Given the description of an element on the screen output the (x, y) to click on. 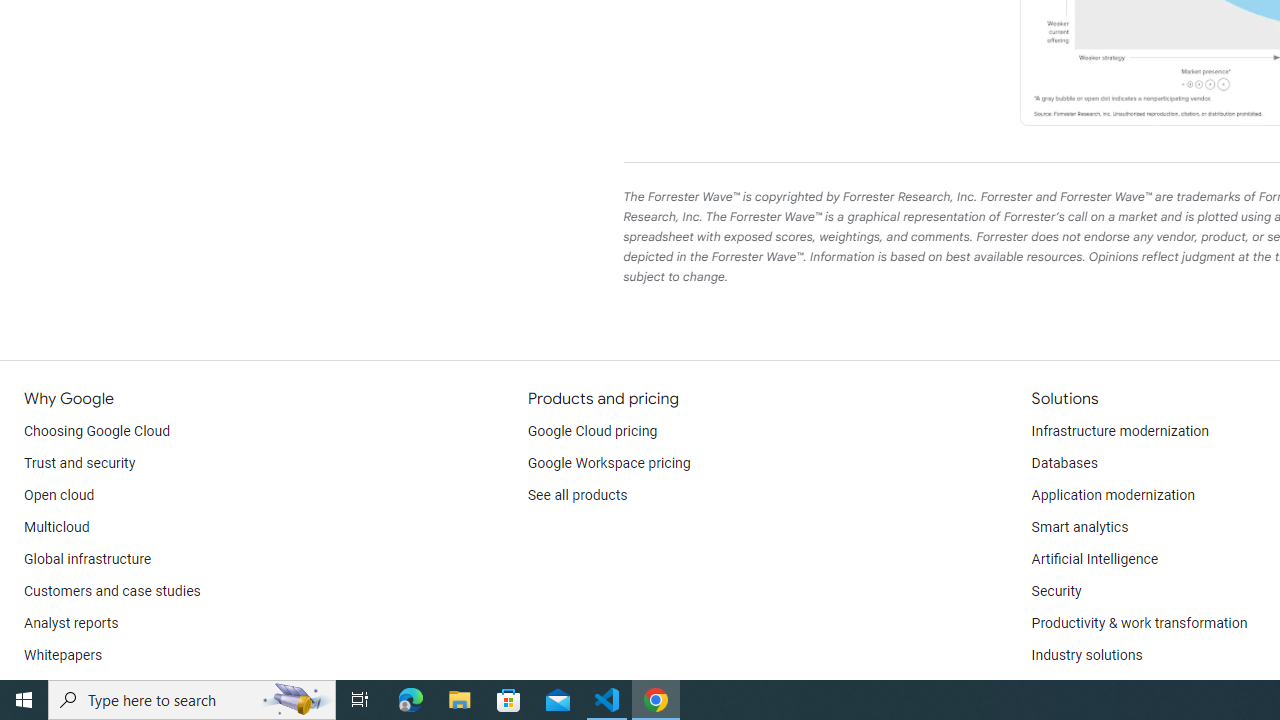
Industry solutions (1086, 655)
Customers and case studies (112, 591)
Analyst reports (71, 623)
Trust and security (79, 463)
Multicloud (56, 527)
See all products (577, 495)
Google Workspace pricing (609, 463)
Global infrastructure (88, 560)
Productivity & work transformation (1139, 623)
Security (1055, 591)
Artificial Intelligence (1094, 560)
Whitepapers (63, 655)
Application modernization (1112, 495)
Smart analytics (1079, 527)
Google Cloud pricing (592, 431)
